Given the description of an element on the screen output the (x, y) to click on. 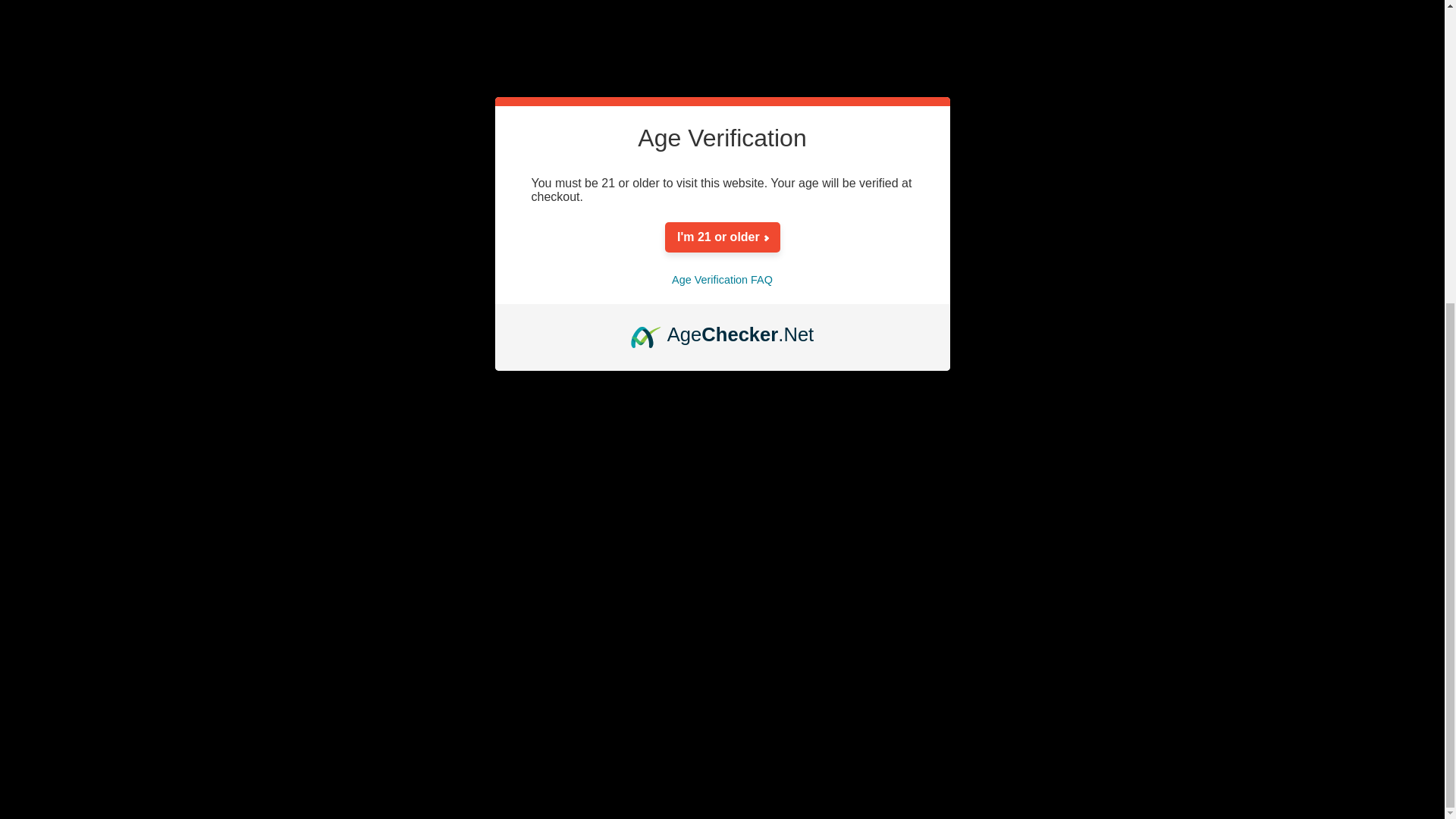
July 2021 -  Footer Form (854, 323)
Search (192, 40)
logo (1092, 259)
payment-icon-1 (1092, 143)
Search (192, 40)
Search (192, 40)
